Given the description of an element on the screen output the (x, y) to click on. 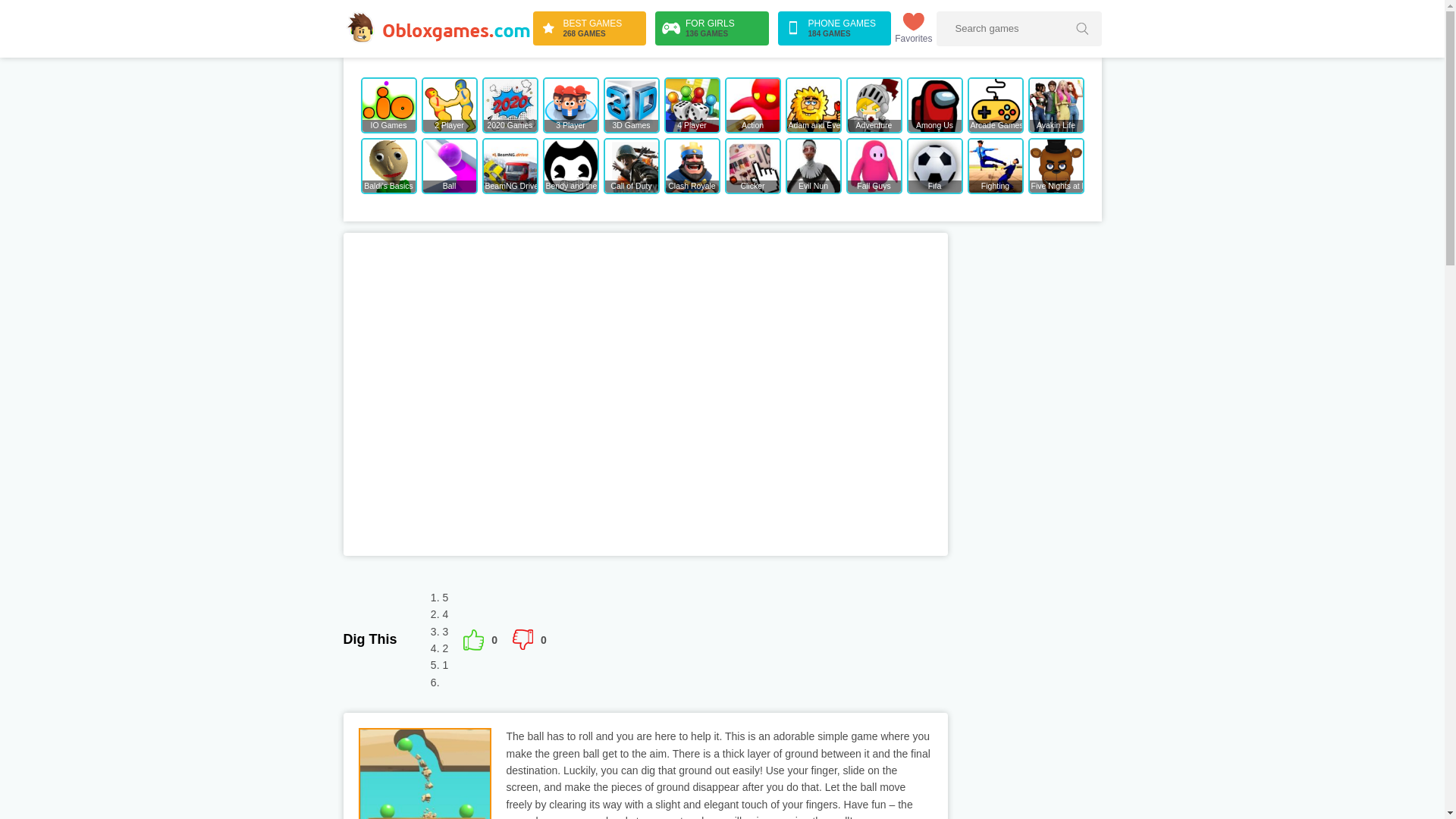
BeamNG Drive (509, 166)
Fall Guys (873, 166)
Among Us (934, 104)
0 (834, 28)
Clash Royale (529, 639)
Adventure (691, 166)
Favorites (873, 104)
Bendy and the Ink Machine (913, 28)
Clicker (570, 166)
